Given the description of an element on the screen output the (x, y) to click on. 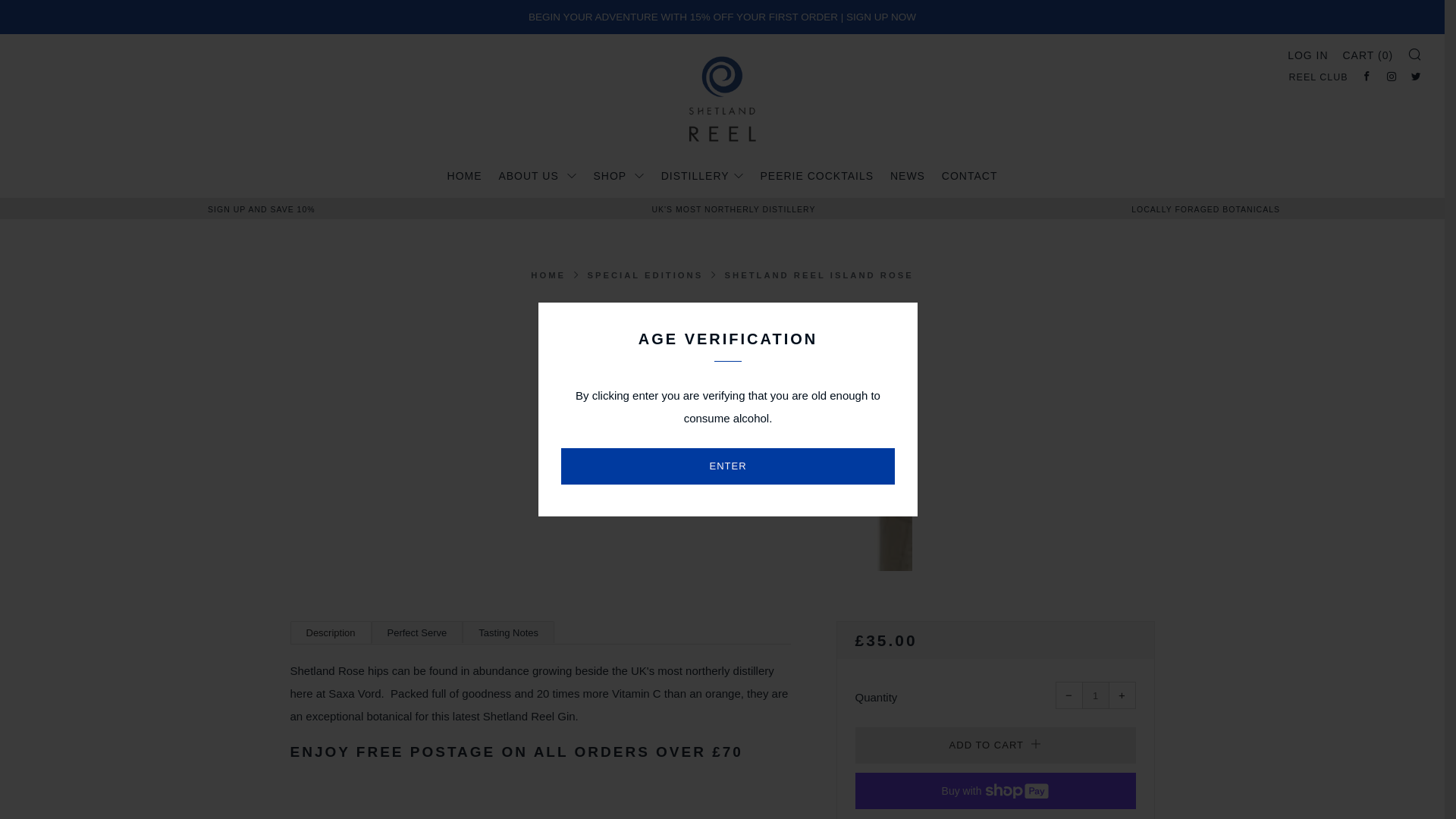
SHOP (619, 175)
Home (548, 275)
HOME (463, 175)
ABOUT US (536, 175)
1 (1094, 695)
ENTER (727, 465)
